Given the description of an element on the screen output the (x, y) to click on. 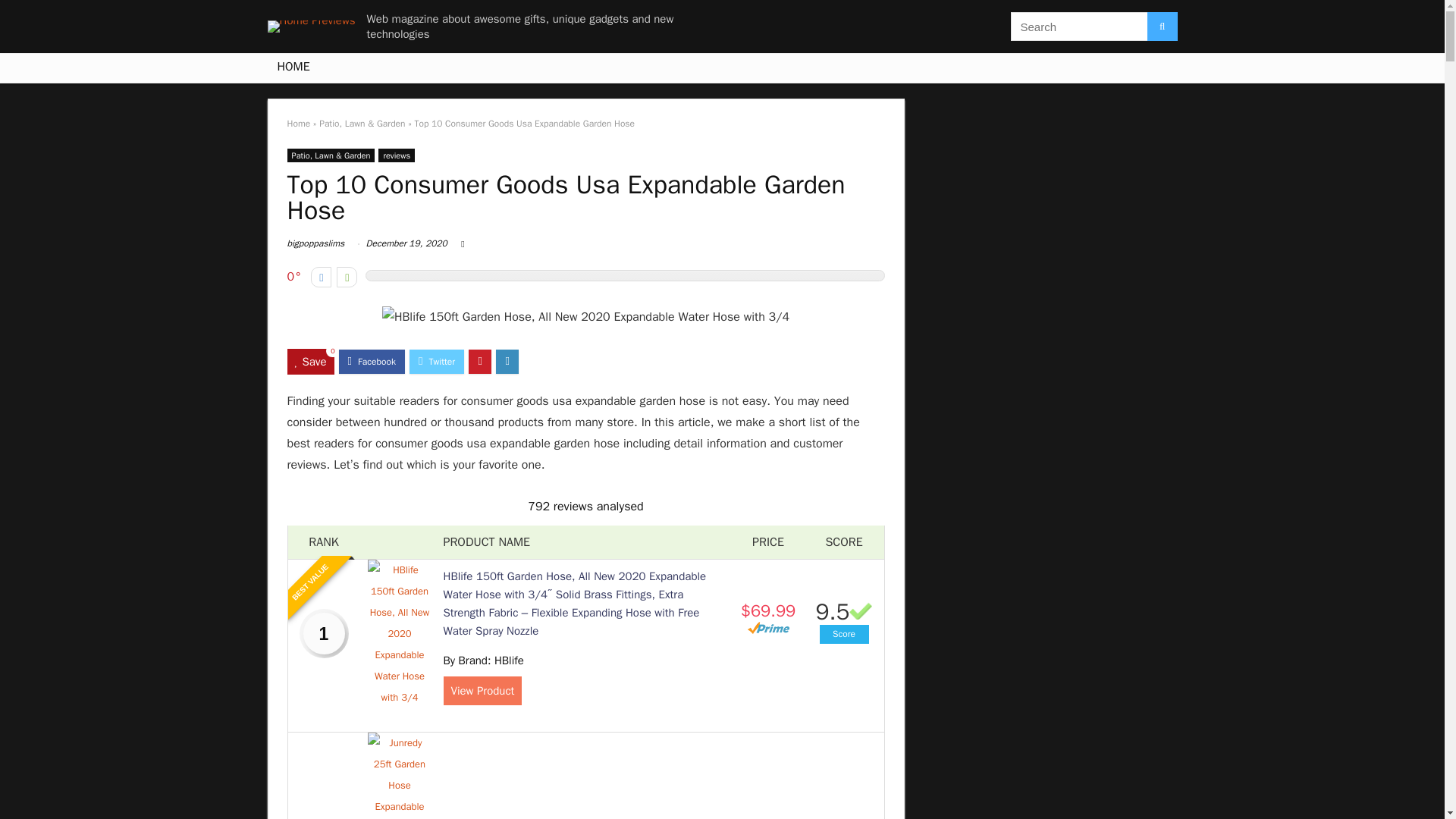
HOME (292, 68)
By Brand: HBlife (482, 660)
Vote up (346, 276)
View Product (481, 690)
reviews (396, 155)
bigpoppaslims (314, 243)
View all posts in reviews (396, 155)
Vote down (321, 276)
Home (298, 123)
